Given the description of an element on the screen output the (x, y) to click on. 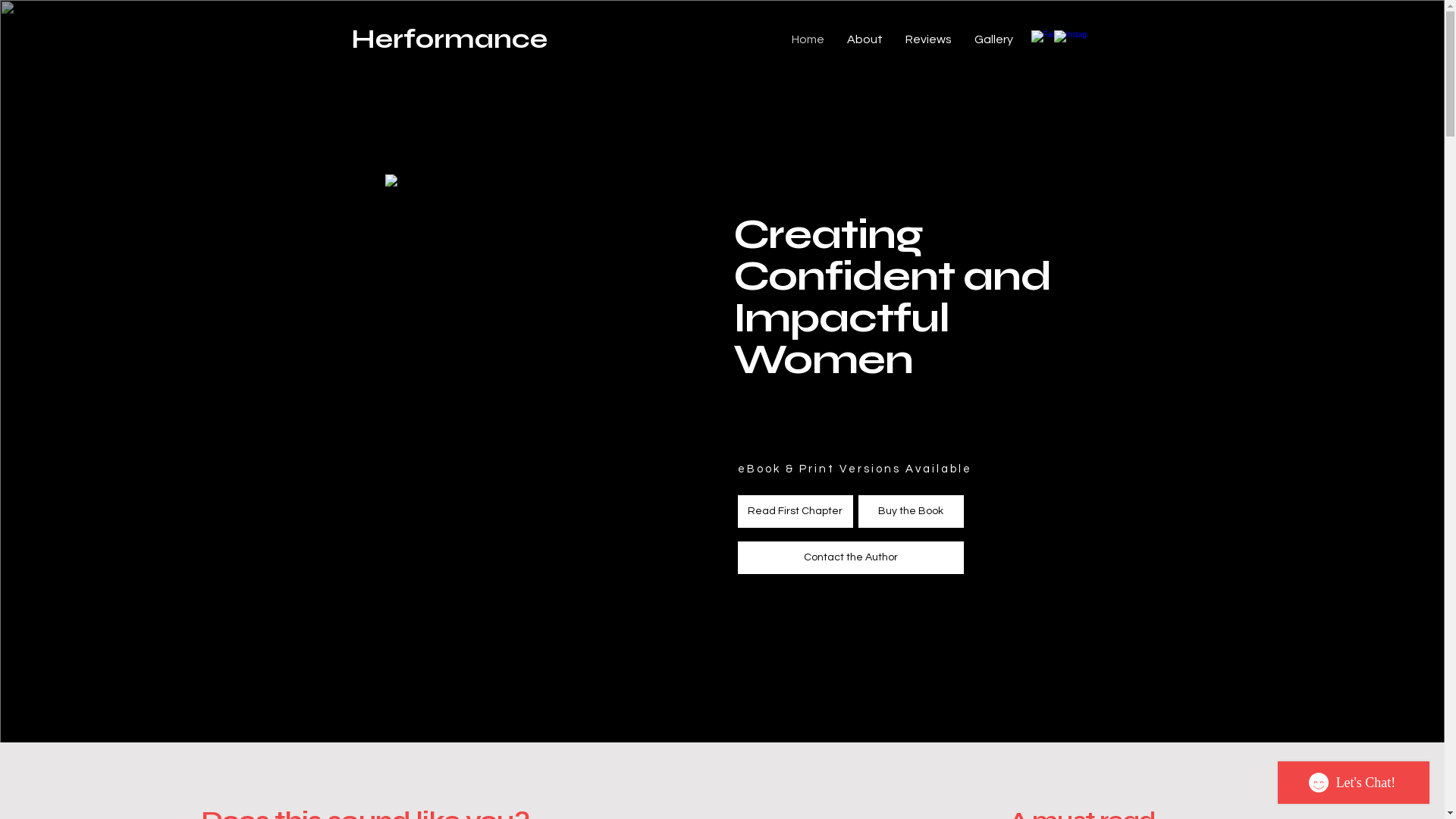
Contact the Author Element type: text (850, 557)
Gallery Element type: text (993, 39)
Home Element type: text (806, 39)
About Element type: text (864, 39)
Read First Chapter Element type: text (794, 511)
Buy the Book Element type: text (910, 511)
Reviews Element type: text (927, 39)
